Given the description of an element on the screen output the (x, y) to click on. 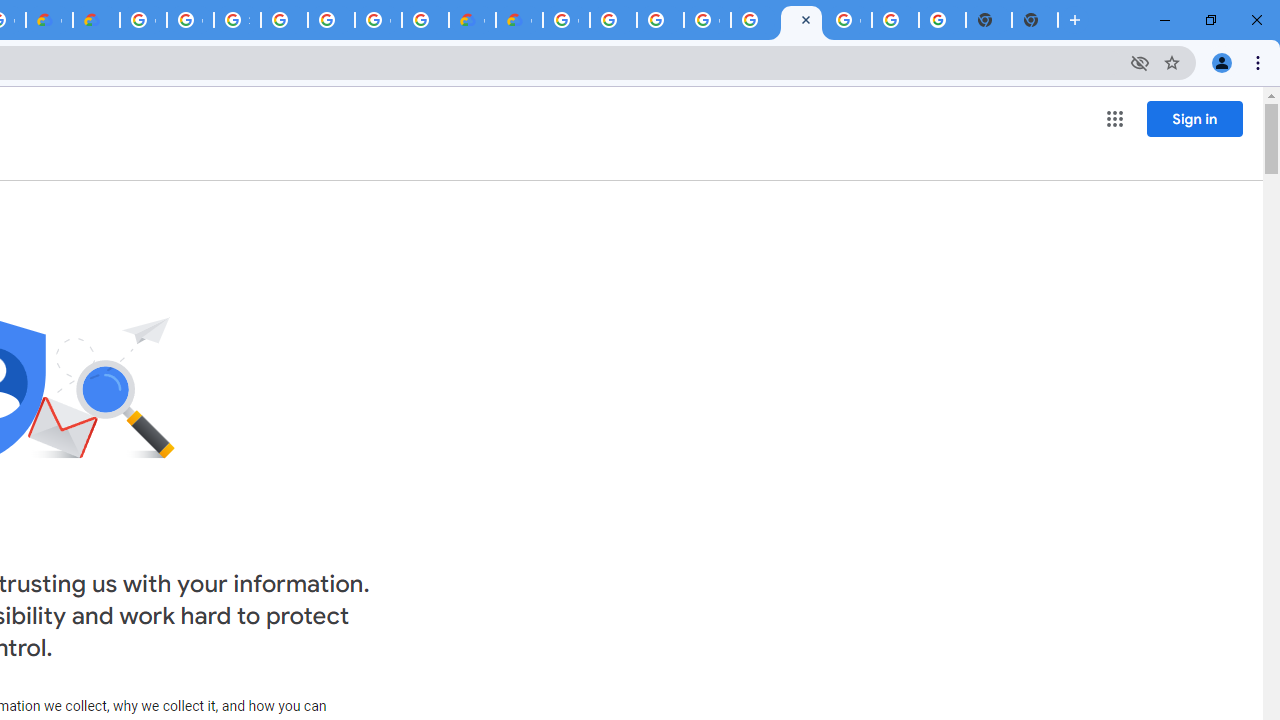
Google Cloud Platform (143, 20)
New Tab (1035, 20)
Google Cloud Estimate Summary (518, 20)
Google Cloud Platform (377, 20)
Customer Care | Google Cloud (48, 20)
Browse Chrome as a guest - Computer - Google Chrome Help (660, 20)
